Given the description of an element on the screen output the (x, y) to click on. 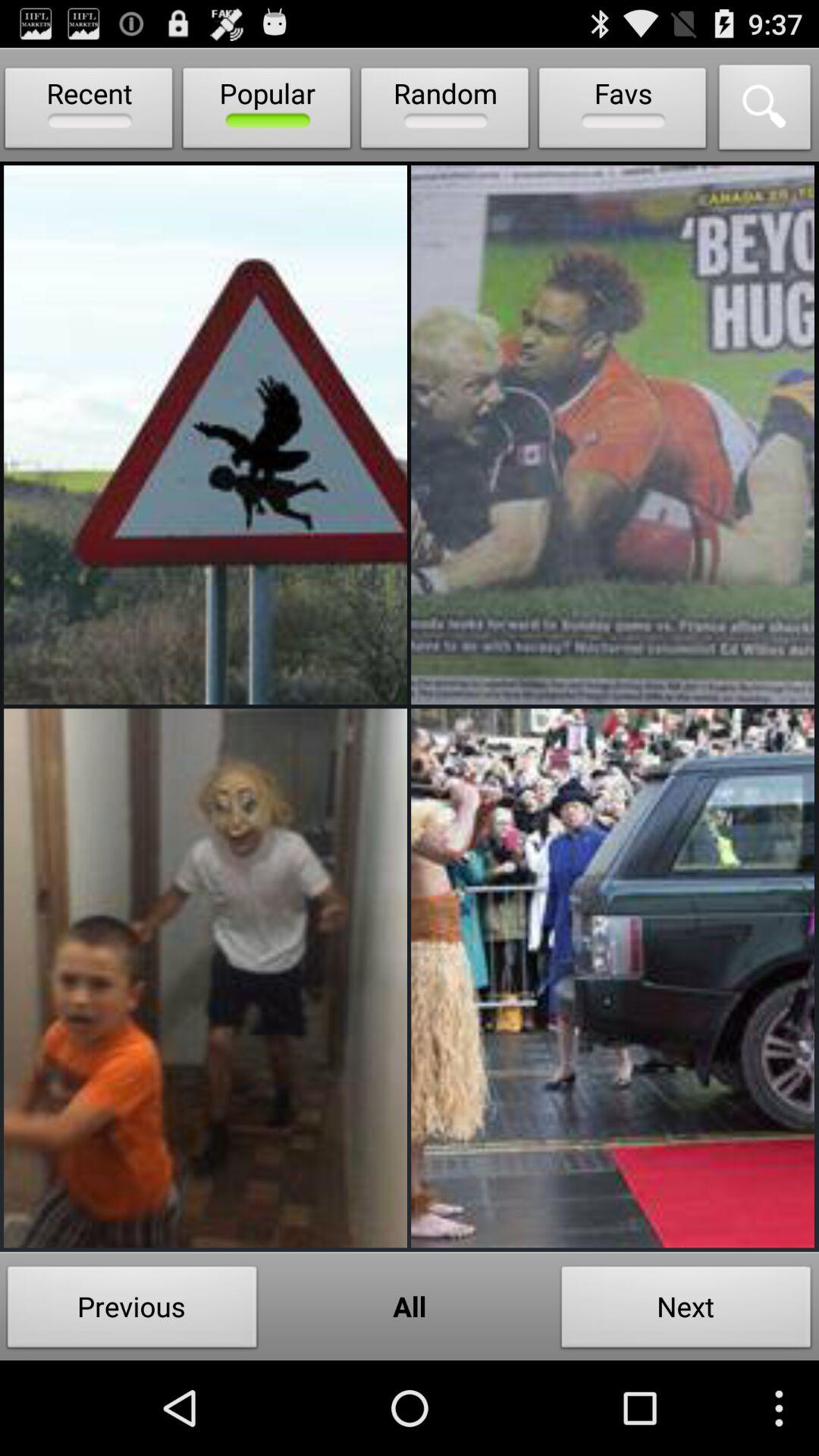
jump until popular icon (267, 111)
